Given the description of an element on the screen output the (x, y) to click on. 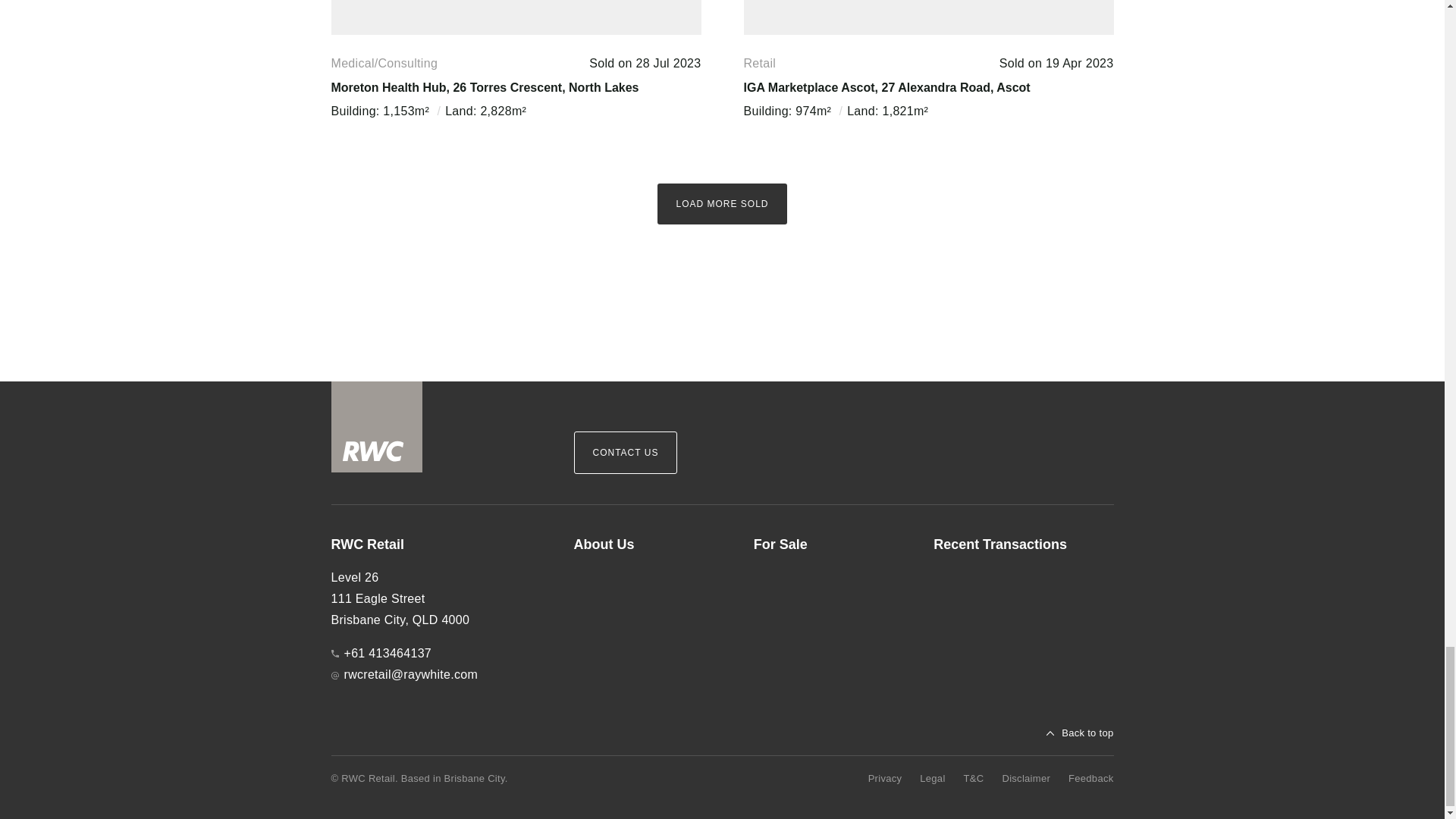
Moreton Health Hub, 26 Torres Crescent, North Lakes (484, 87)
SOLD (927, 17)
Ray White (376, 426)
SOLD (515, 17)
IGA Marketplace Ascot, 27 Alexandra Road, Ascot (885, 87)
LOAD MORE SOLD (722, 203)
